Given the description of an element on the screen output the (x, y) to click on. 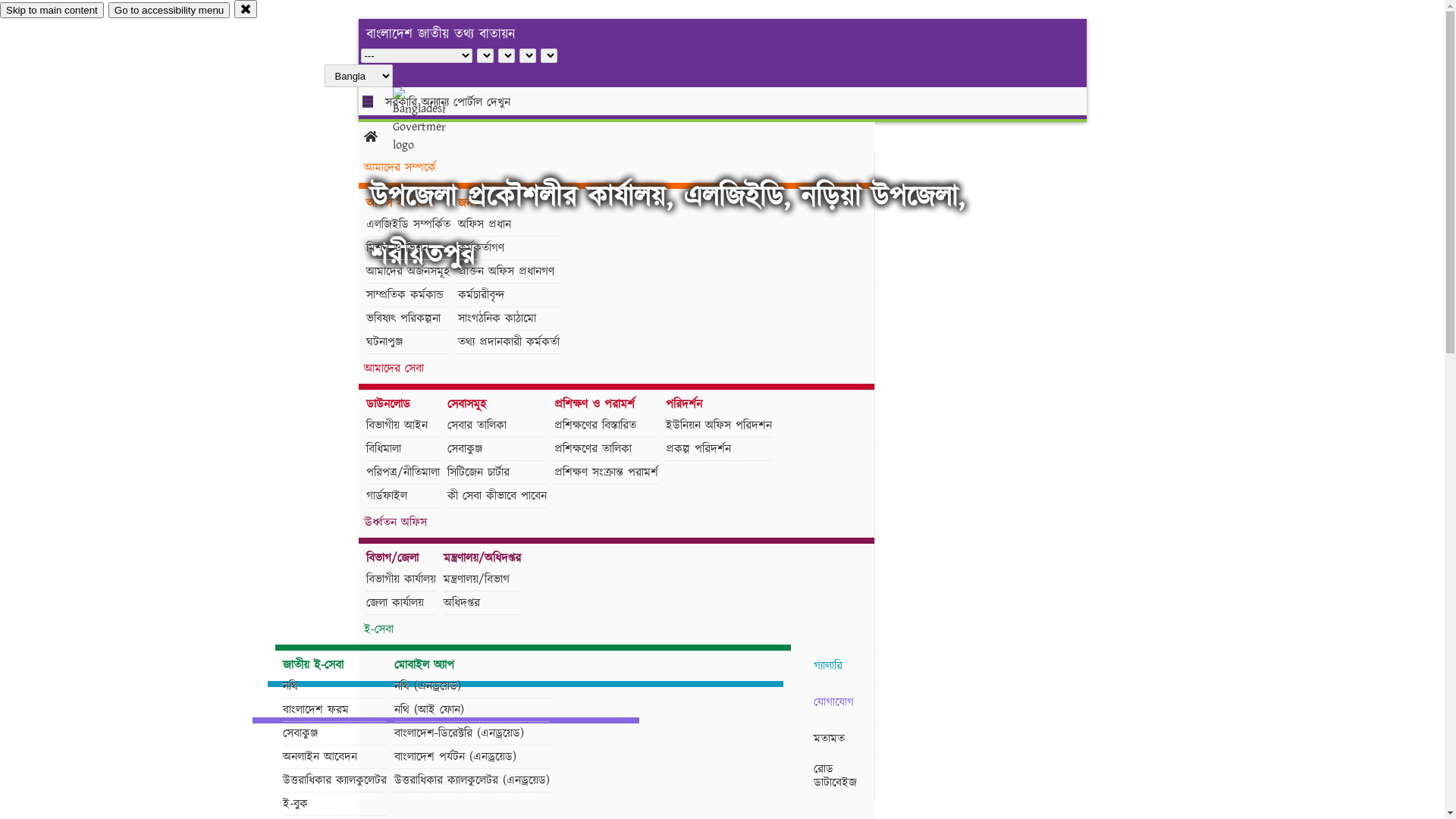

                
             Element type: hover (431, 120)
Skip to main content Element type: text (51, 10)
close Element type: hover (245, 9)
Go to accessibility menu Element type: text (168, 10)
